Given the description of an element on the screen output the (x, y) to click on. 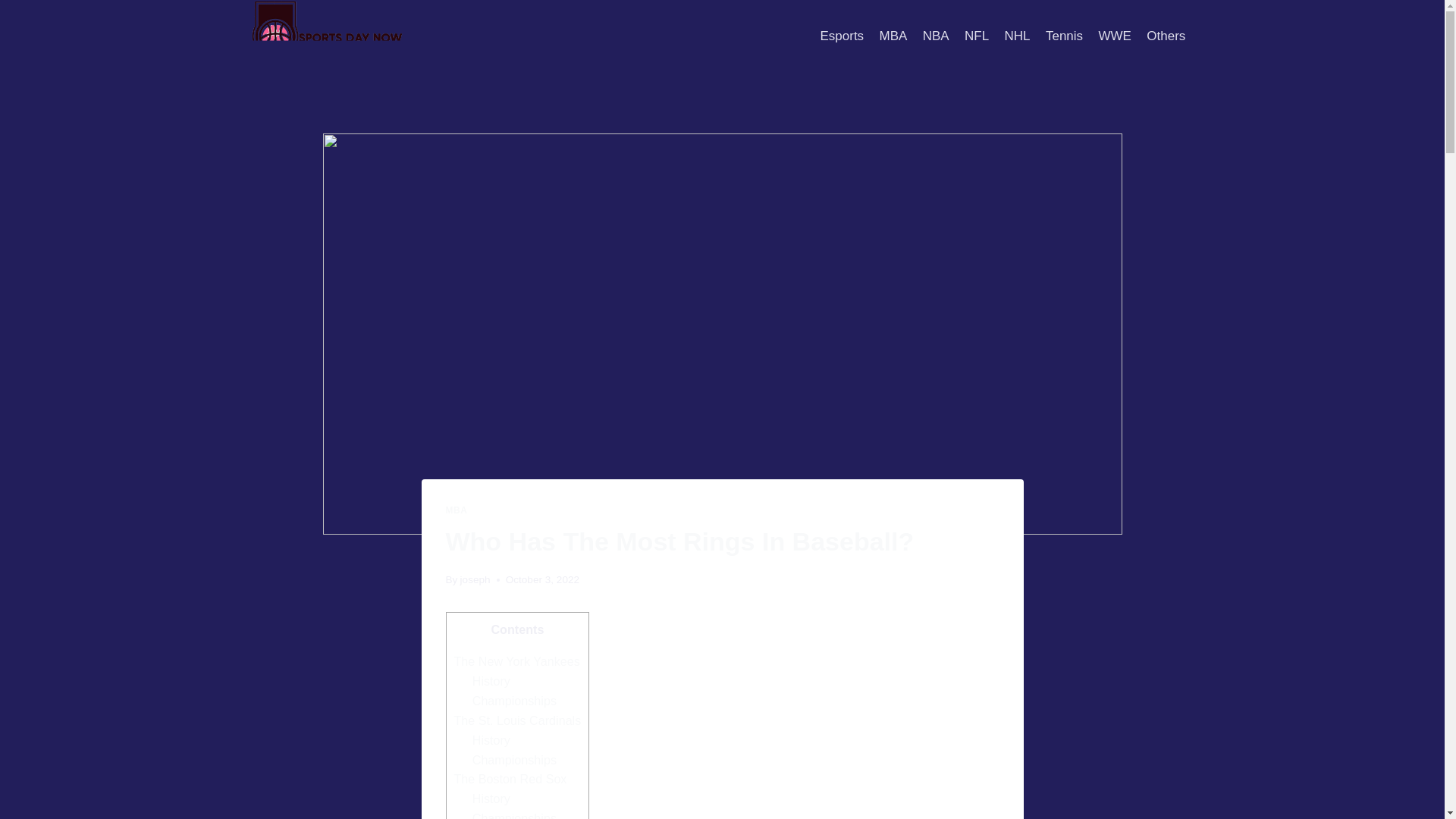
History (491, 798)
Esports (841, 36)
NFL (976, 36)
Championships (513, 759)
MBA (456, 510)
Tennis (1064, 36)
NBA (935, 36)
NHL (1015, 36)
The New York Yankees (515, 661)
WWE (1114, 36)
